Given the description of an element on the screen output the (x, y) to click on. 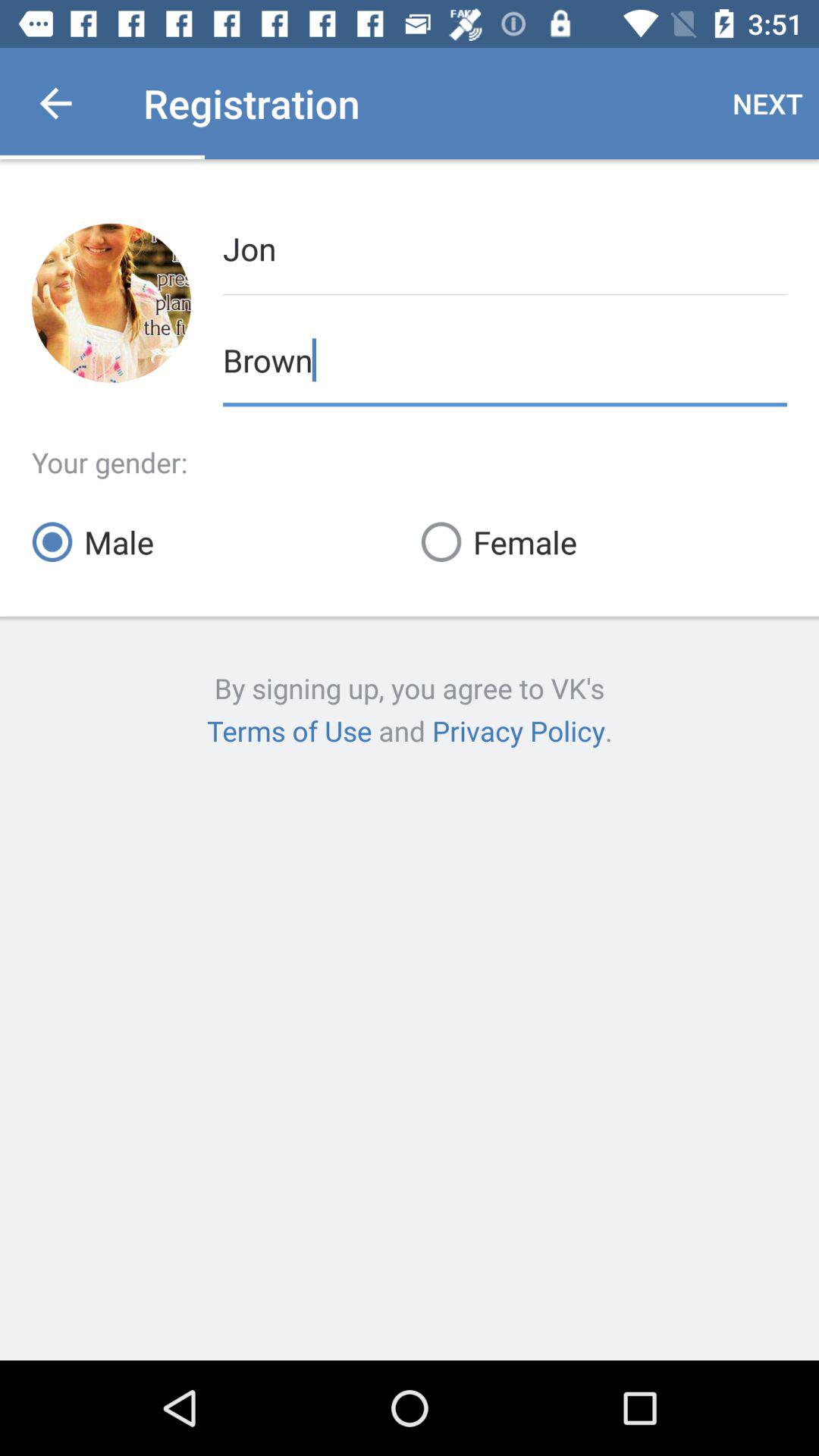
scroll to the brown icon (504, 358)
